Given the description of an element on the screen output the (x, y) to click on. 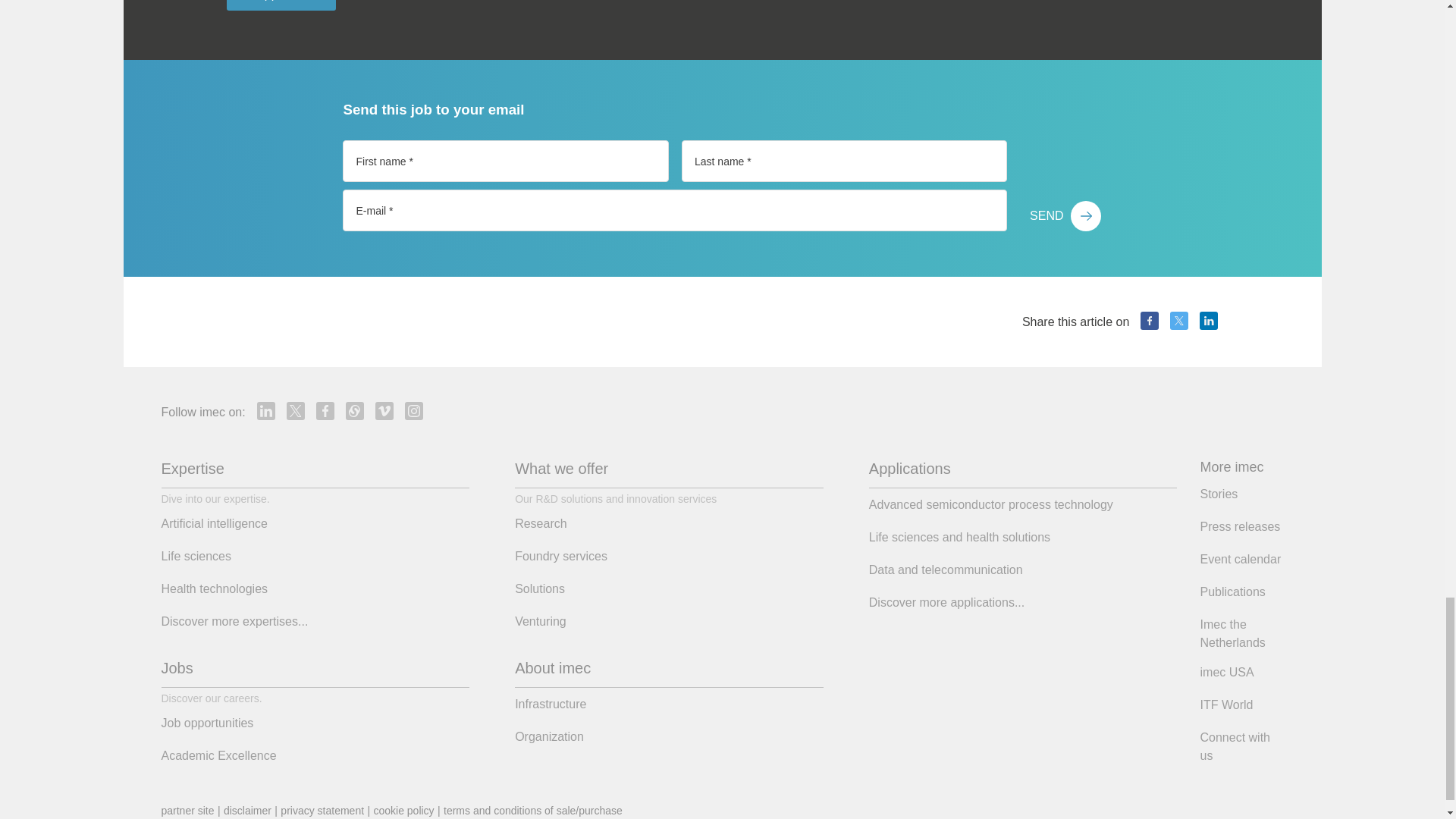
Swivle (355, 411)
Facebook (324, 411)
Vimeo (384, 411)
LinkedIn (266, 411)
Instagram (413, 411)
SEND (1064, 215)
LinkedIn (1208, 321)
X (1179, 321)
Facebook (1149, 321)
Job opportunities (281, 5)
X (295, 411)
